Given the description of an element on the screen output the (x, y) to click on. 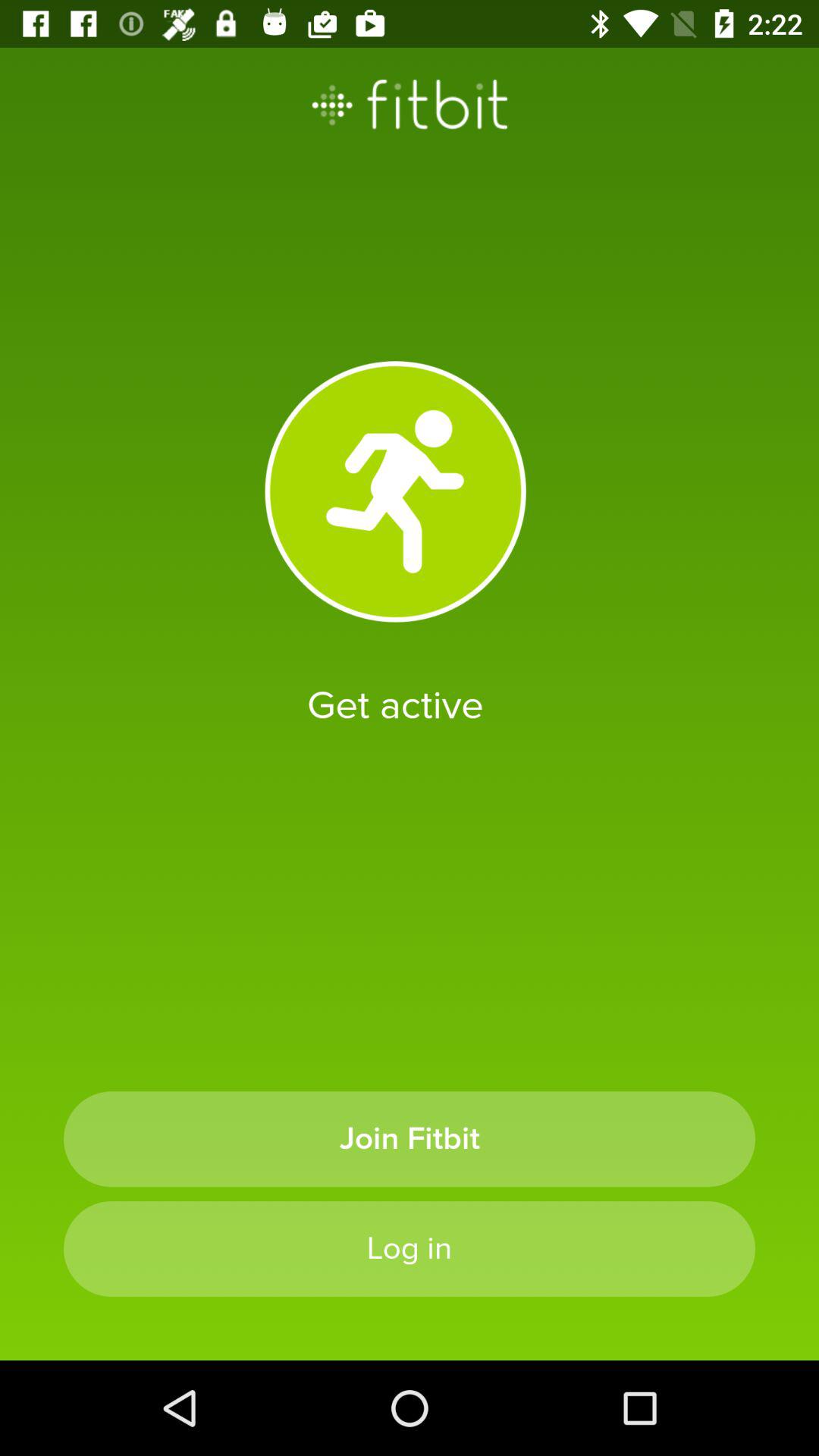
scroll to the join fitbit item (409, 1138)
